Given the description of an element on the screen output the (x, y) to click on. 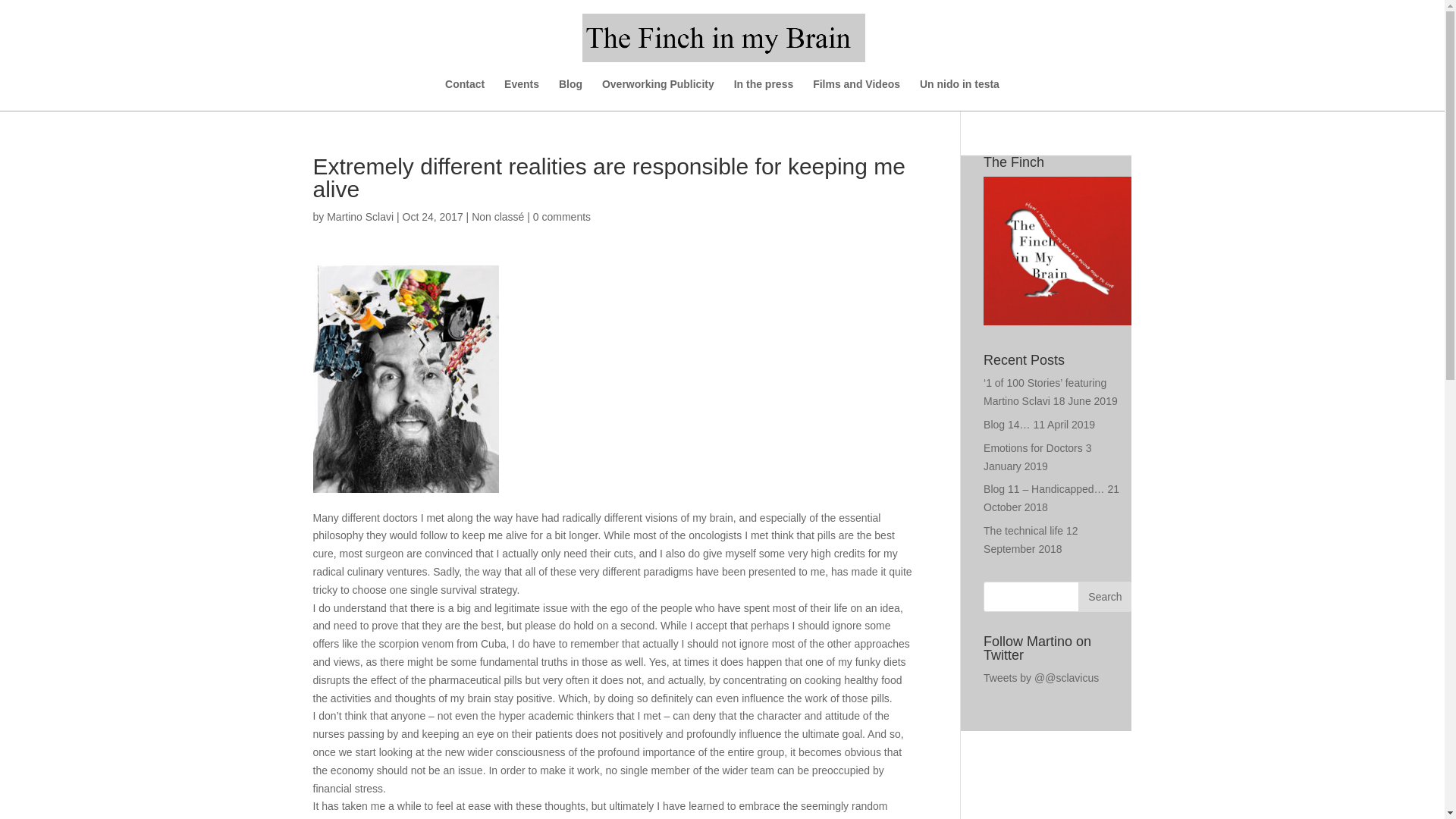
Search (1104, 596)
In the press (763, 94)
advertisement (1057, 250)
The technical life (1023, 530)
Emotions for Doctors (1033, 448)
Overworking Publicity (658, 94)
Films and Videos (855, 94)
Posts by Martino Sclavi (359, 216)
Martino Sclavi (359, 216)
Search (1104, 596)
0 comments (561, 216)
Un nido in testa (959, 94)
Contact (464, 94)
Events (520, 94)
